Given the description of an element on the screen output the (x, y) to click on. 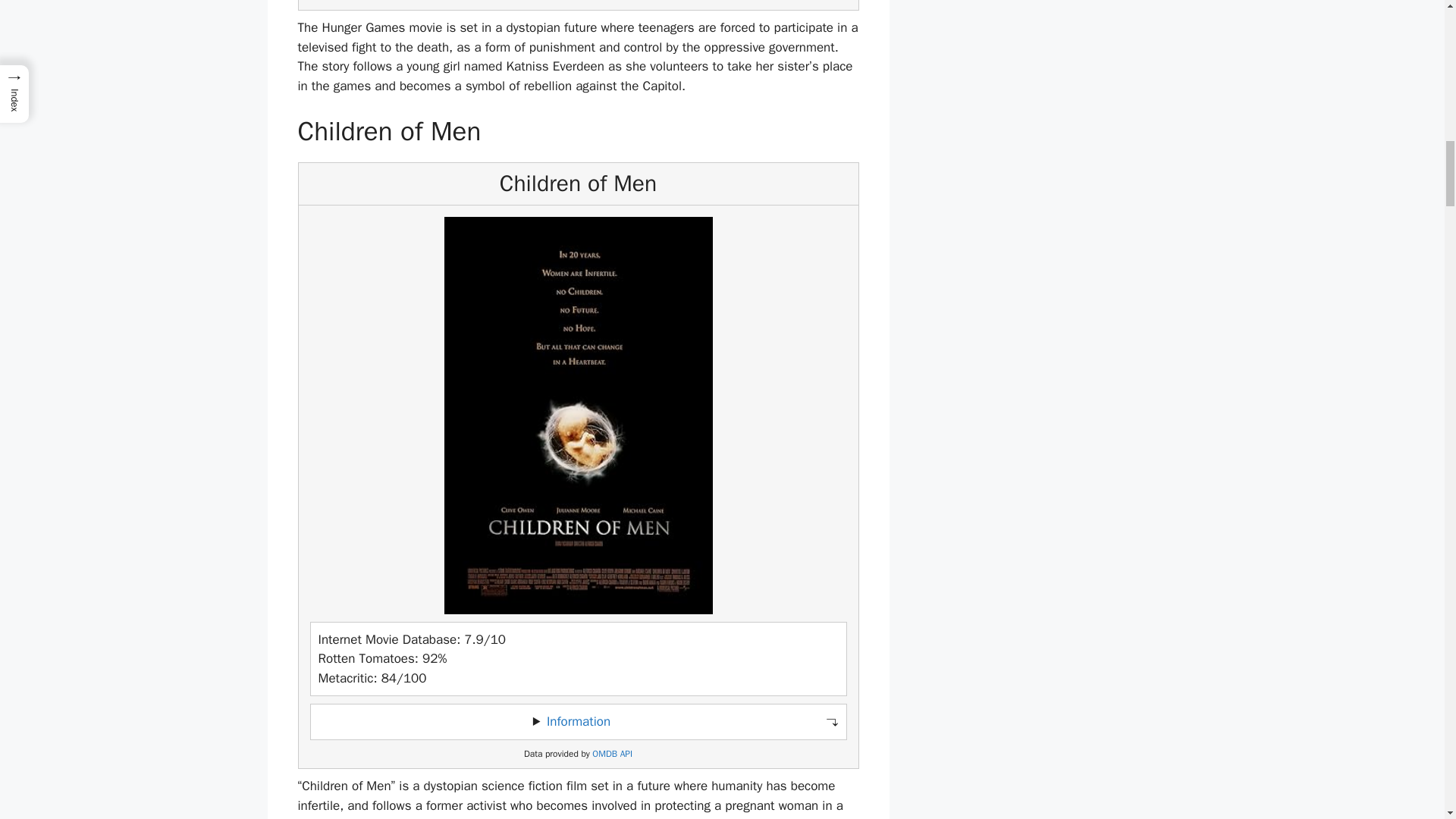
Toggle information (578, 721)
Open Movie Database API (611, 754)
Information (578, 721)
OMDB API (611, 754)
